Given the description of an element on the screen output the (x, y) to click on. 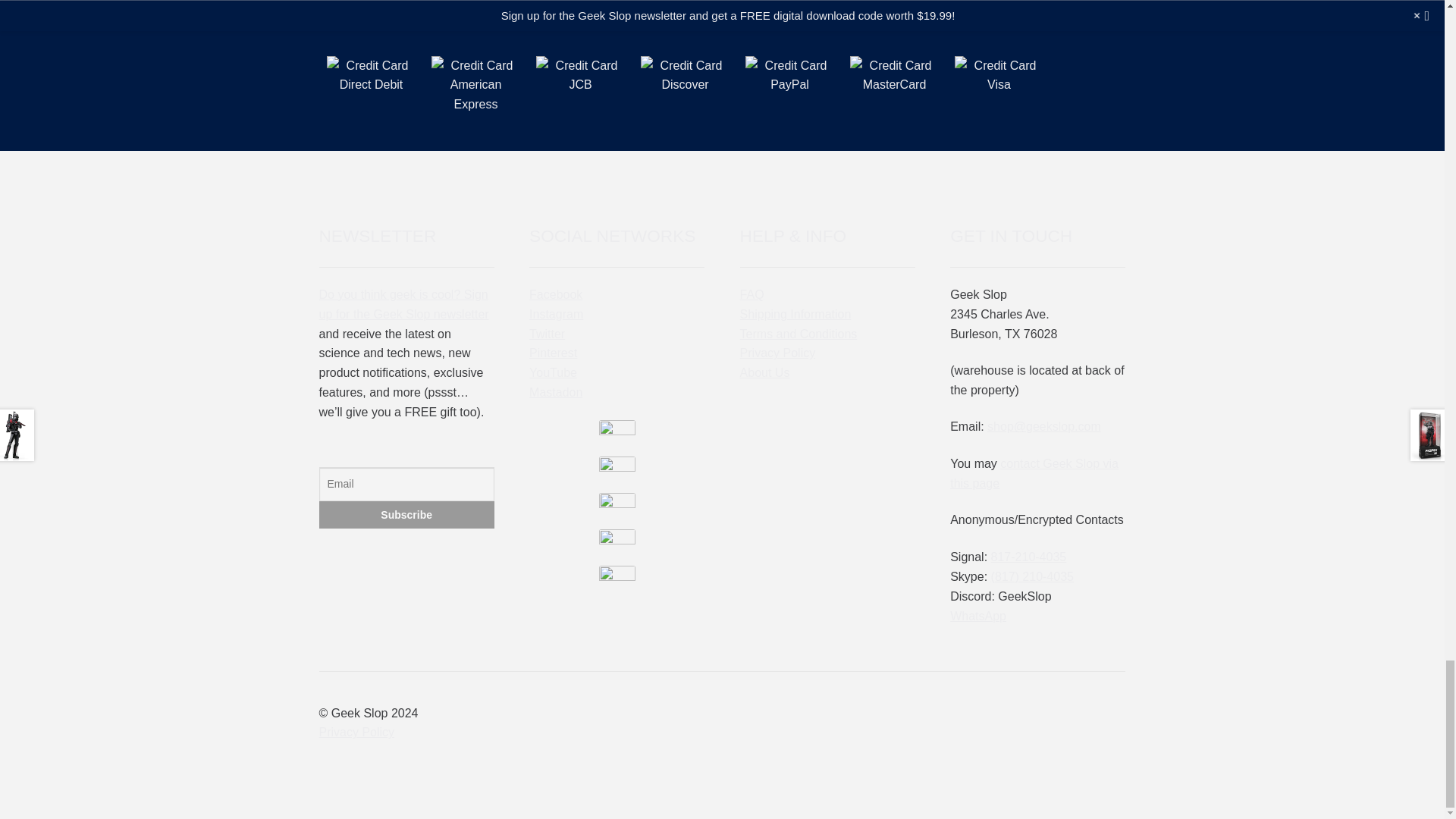
Subscribe (406, 514)
